Given the description of an element on the screen output the (x, y) to click on. 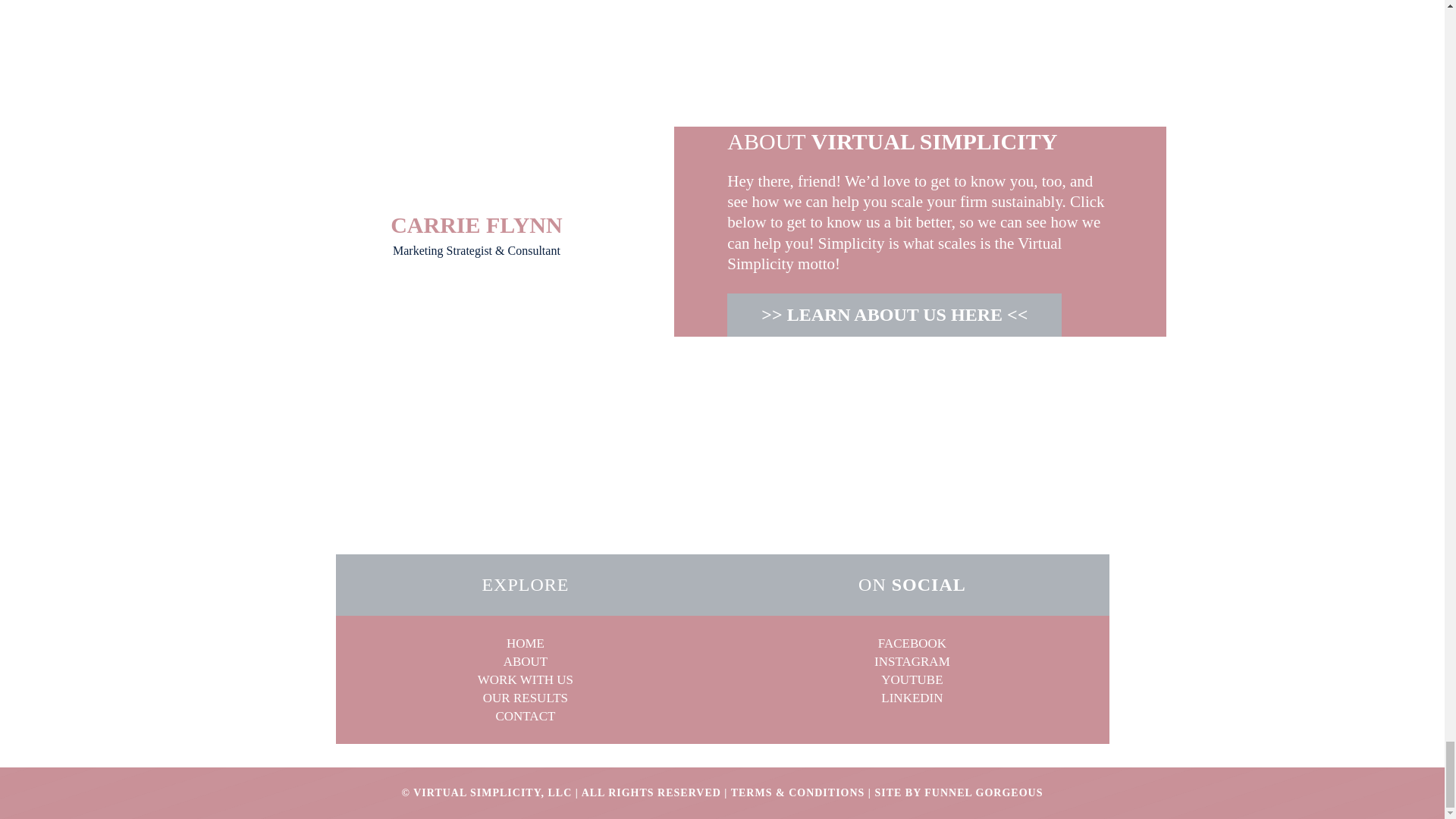
HOME (525, 643)
WORK WITH US (525, 679)
OUR RESULTS (525, 698)
ABOUT (525, 661)
FACEBOOK (911, 643)
INSTAGRAM (912, 661)
YOUTUBE (911, 679)
LINKEDIN (911, 698)
CONTACT (524, 715)
